Given the description of an element on the screen output the (x, y) to click on. 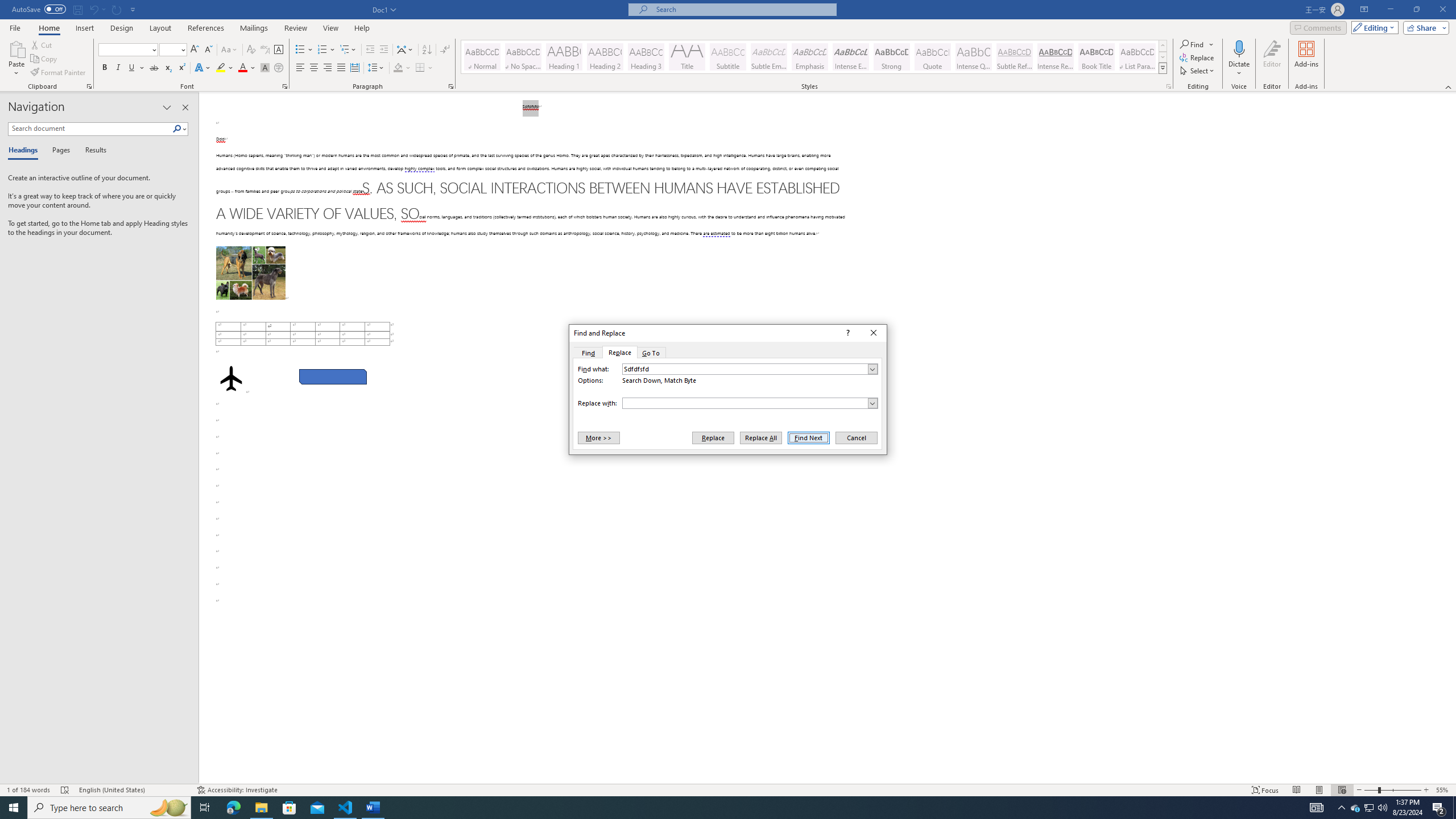
More >> (598, 437)
Bold (104, 67)
Intense Emphasis (849, 56)
Font Color Red (241, 67)
Title (686, 56)
View (330, 28)
Search (179, 128)
Strikethrough (154, 67)
Intense Reference (1055, 56)
Find (1192, 44)
Task View (204, 807)
Clear Formatting (250, 49)
Office Clipboard... (88, 85)
Comments (1318, 27)
